Given the description of an element on the screen output the (x, y) to click on. 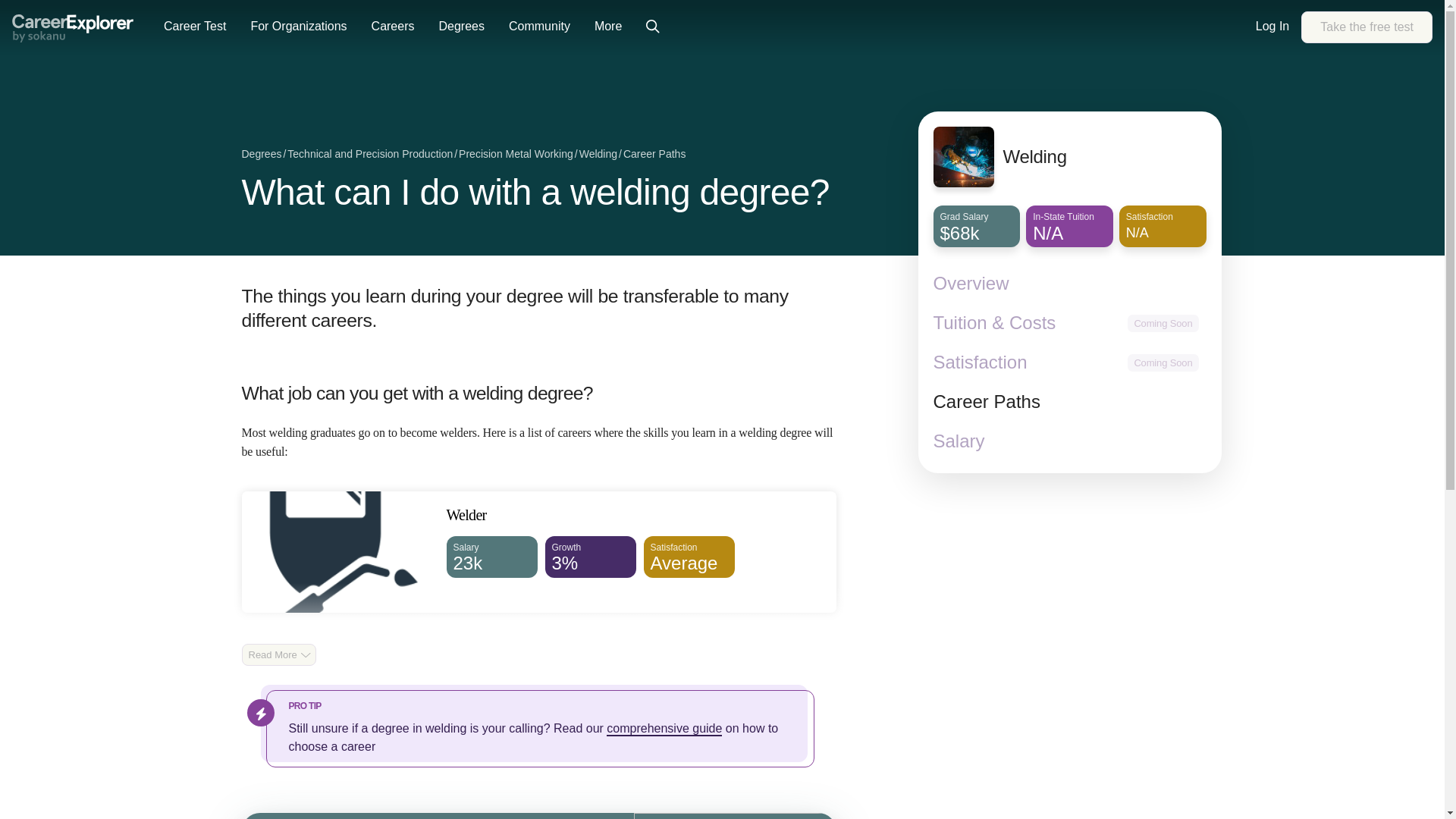
Technical and Precision Production (369, 154)
Degrees (261, 154)
CareerExplorer (72, 28)
Career Paths (1069, 401)
CareerExplorer (72, 27)
Career Test (194, 27)
comprehensive guide (664, 728)
Satisfaction (979, 362)
Welding (1366, 26)
